Given the description of an element on the screen output the (x, y) to click on. 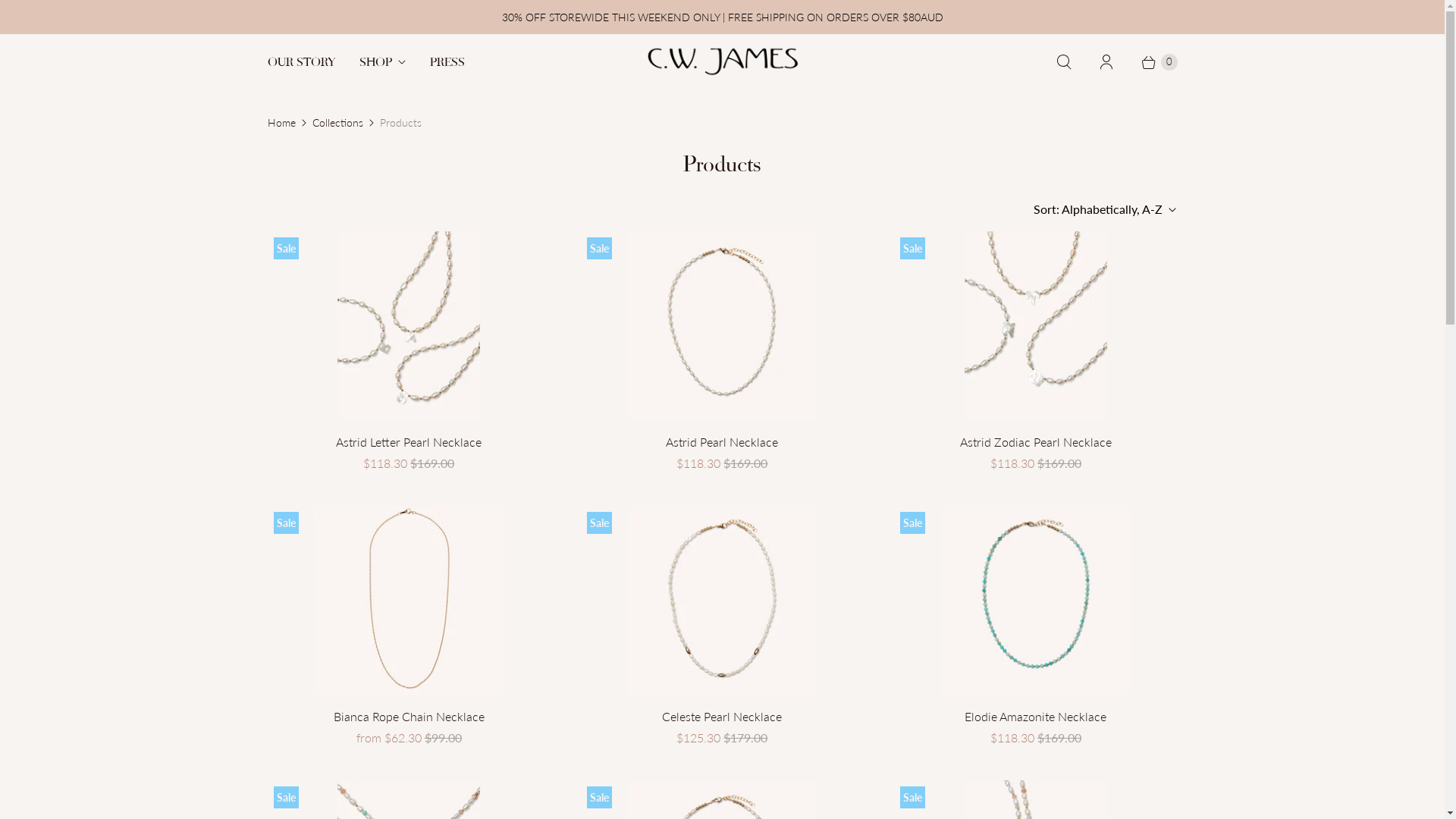
Astrid Pearl Necklace Element type: text (721, 442)
Astrid Letter Pearl Necklace Element type: text (407, 442)
PRESS Element type: text (446, 61)
Sort: Alphabetically, A-Z Element type: text (1103, 209)
0 Element type: text (1151, 61)
Home Element type: text (280, 122)
Collections Element type: text (337, 122)
OUR STORY Element type: text (300, 61)
Bianca Rope Chain Necklace Element type: text (407, 716)
Elodie Amazonite Necklace Element type: text (1035, 716)
Celeste Pearl Necklace Element type: text (721, 716)
Astrid Zodiac Pearl Necklace Element type: text (1035, 442)
